Given the description of an element on the screen output the (x, y) to click on. 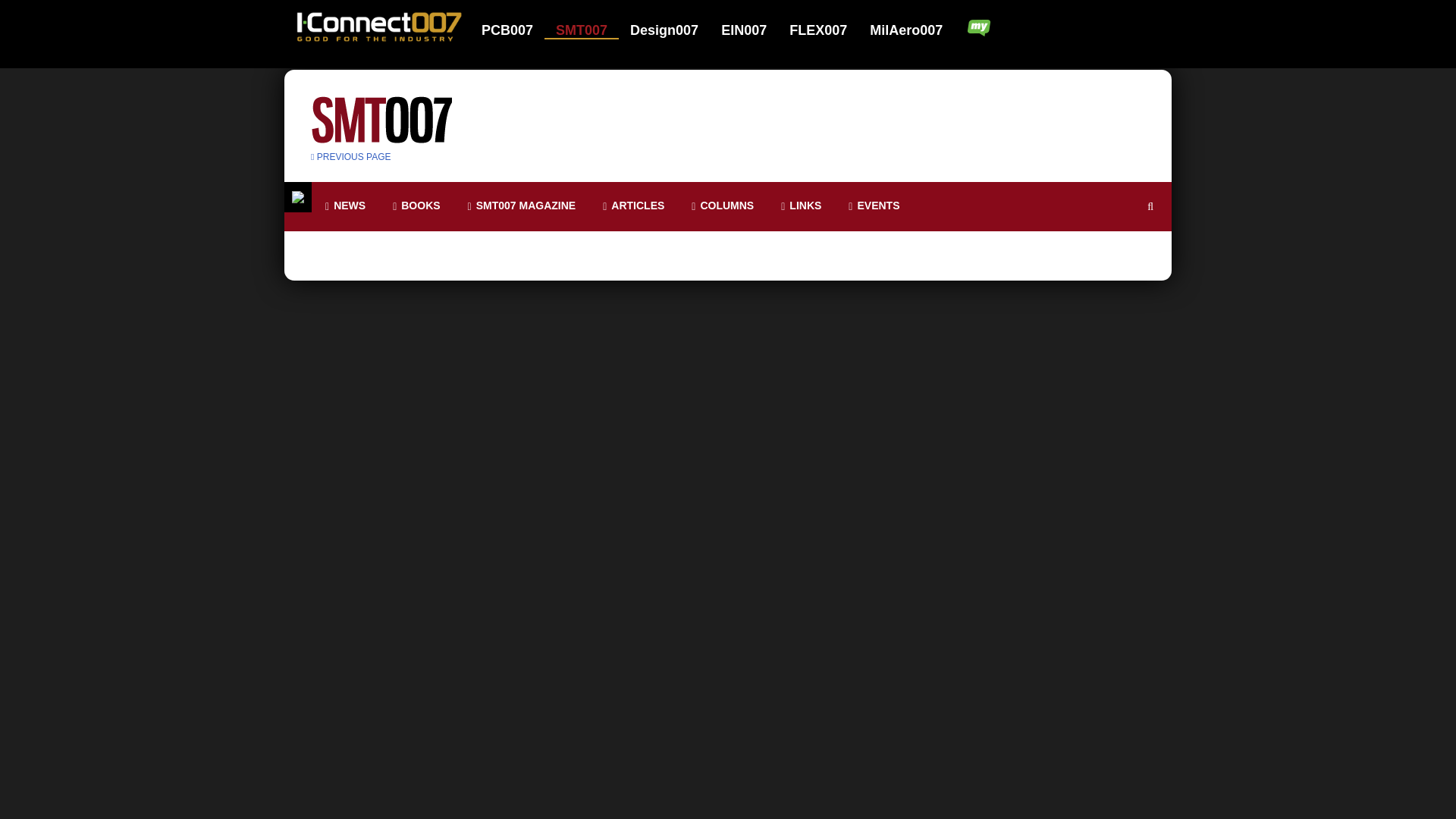
Design007 (673, 30)
BOOKS (415, 205)
PCB007 (516, 30)
SMT007 MAGAZINE (521, 205)
NEWS (344, 205)
PREVIOUS PAGE (351, 156)
MilAero007 (907, 30)
FLEX007 (827, 30)
SMT007 (590, 30)
EIN007 (753, 30)
